Given the description of an element on the screen output the (x, y) to click on. 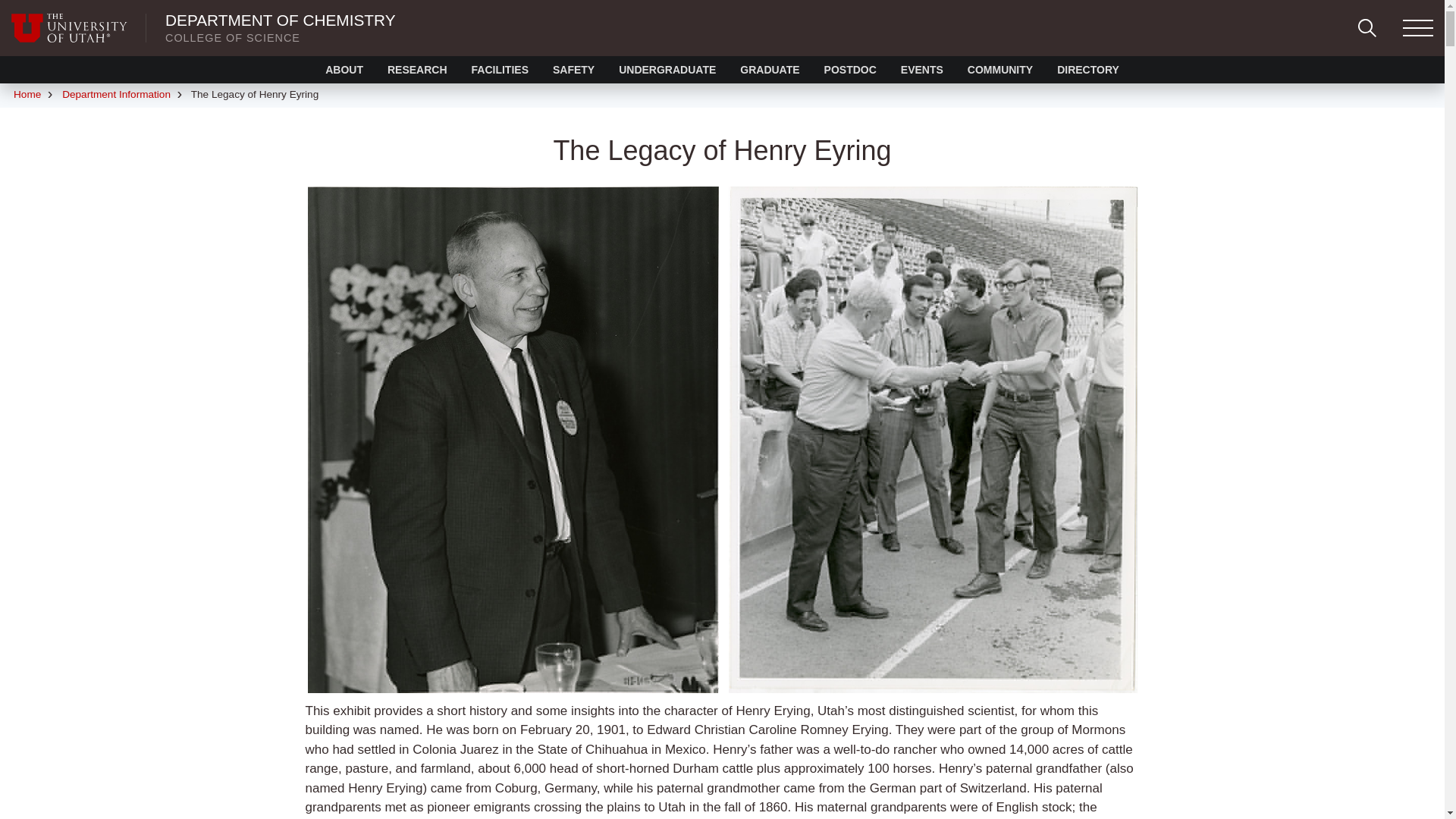
SAFETY (573, 69)
DEPARTMENT OF CHEMISTRY (280, 19)
ABOUT (344, 69)
COLLEGE OF SCIENCE (232, 37)
FACILITIES (500, 69)
RESEARCH (416, 69)
